Given the description of an element on the screen output the (x, y) to click on. 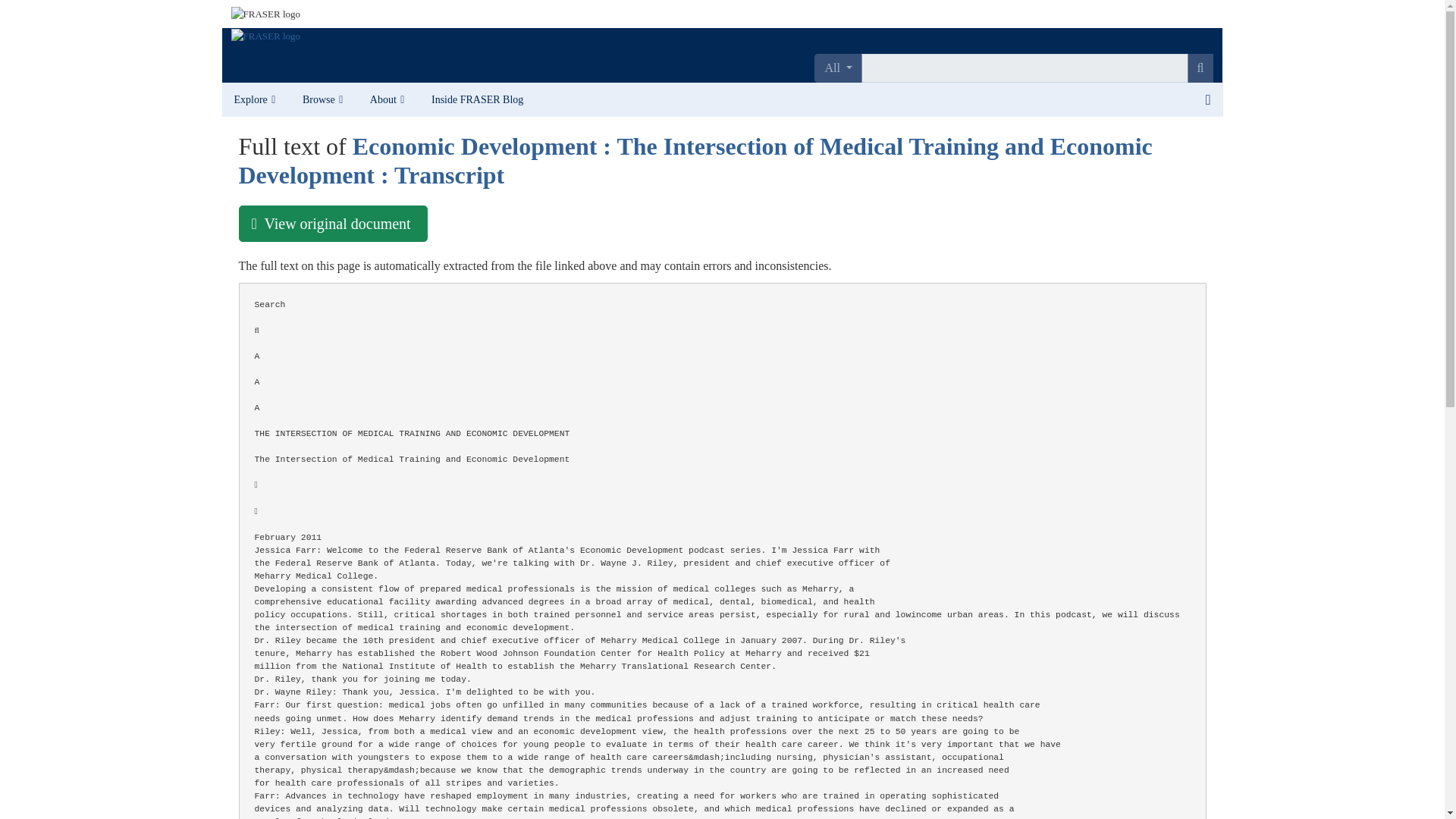
Browse (323, 99)
All (837, 68)
About (388, 99)
Inside FRASER Blog (477, 99)
View original document (332, 223)
Explore (255, 99)
